Given the description of an element on the screen output the (x, y) to click on. 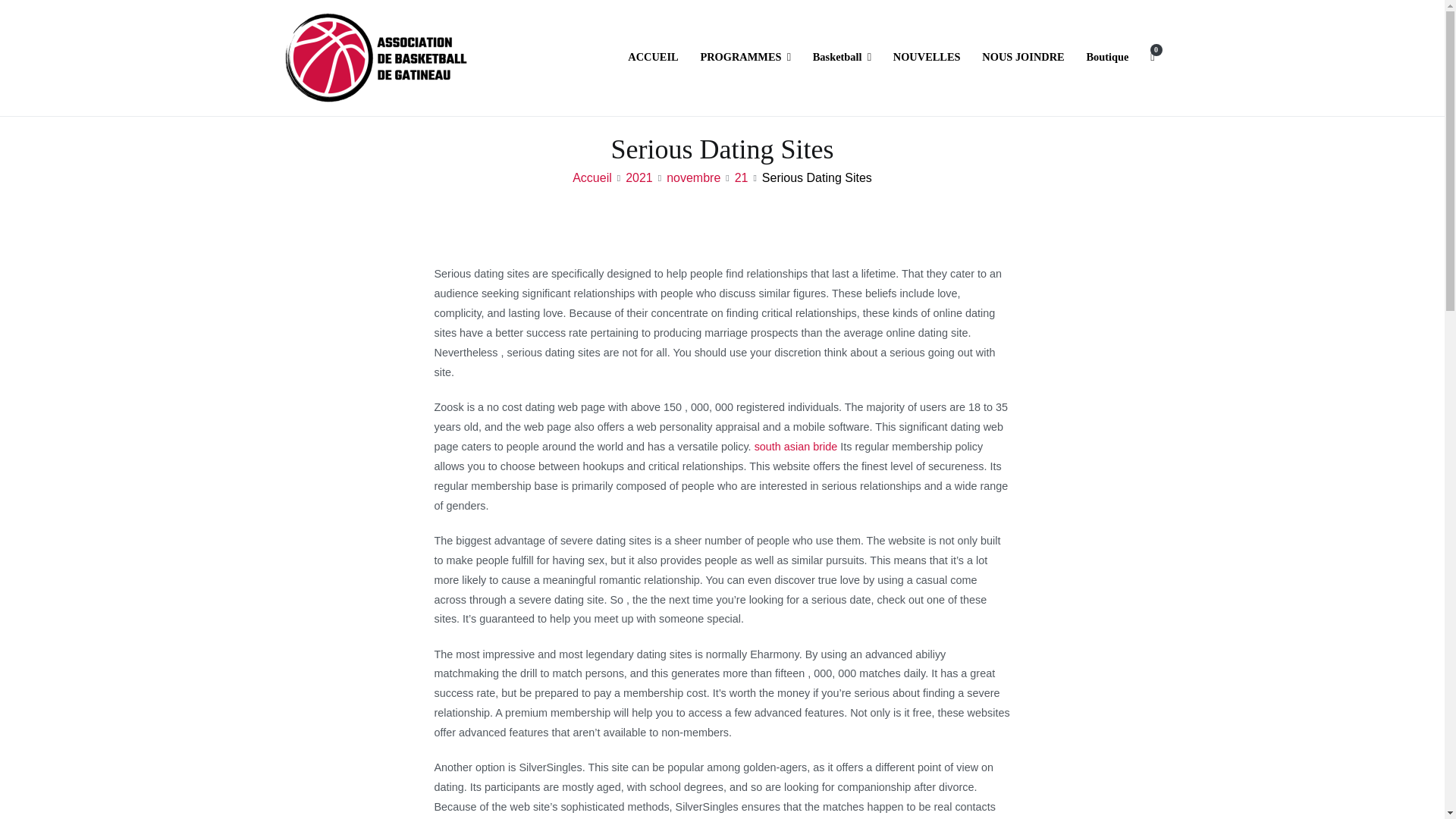
ACCUEIL (652, 57)
NOUS JOINDRE (1022, 57)
Accueil (591, 177)
2021 (639, 177)
NOUVELLES (926, 57)
21 (741, 177)
Basketball (841, 57)
PROGRAMMES (745, 57)
south asian bride (796, 446)
novembre (693, 177)
Association de basketball de Gatineau (608, 67)
Boutique (1107, 57)
